Given the description of an element on the screen output the (x, y) to click on. 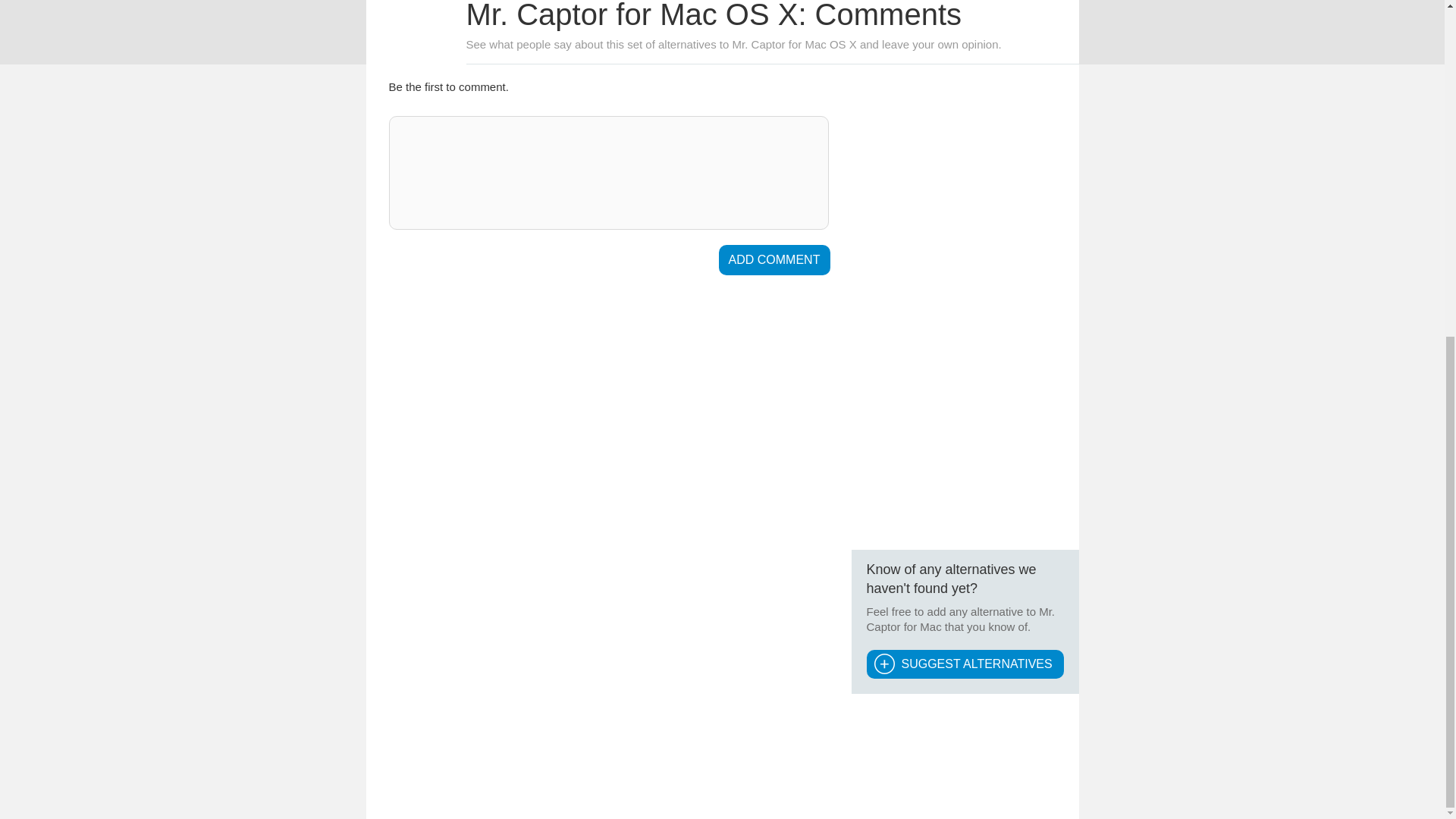
SUGGEST ALTERNATIVES (964, 664)
